Given the description of an element on the screen output the (x, y) to click on. 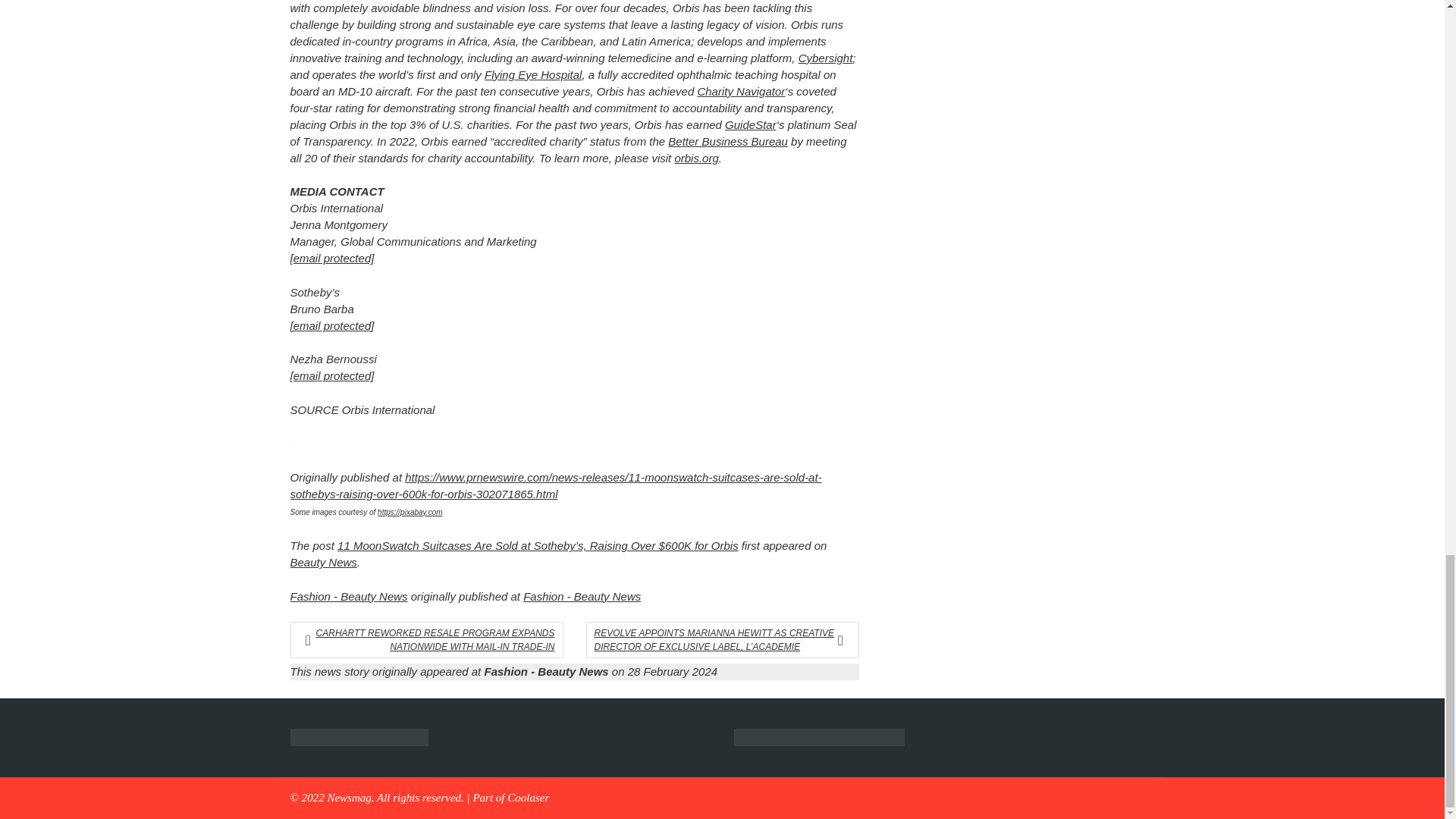
Fashion - Beauty News (348, 595)
Fashion - Beauty News (581, 595)
Charity Navigator (740, 91)
Flying Eye Hospital (532, 74)
GuideStar (750, 124)
Beauty News (322, 562)
Better Business Bureau (727, 141)
Fashion - Beauty News on 28 February 2024 (600, 671)
Cybersight (825, 57)
orbis.org (695, 157)
